Given the description of an element on the screen output the (x, y) to click on. 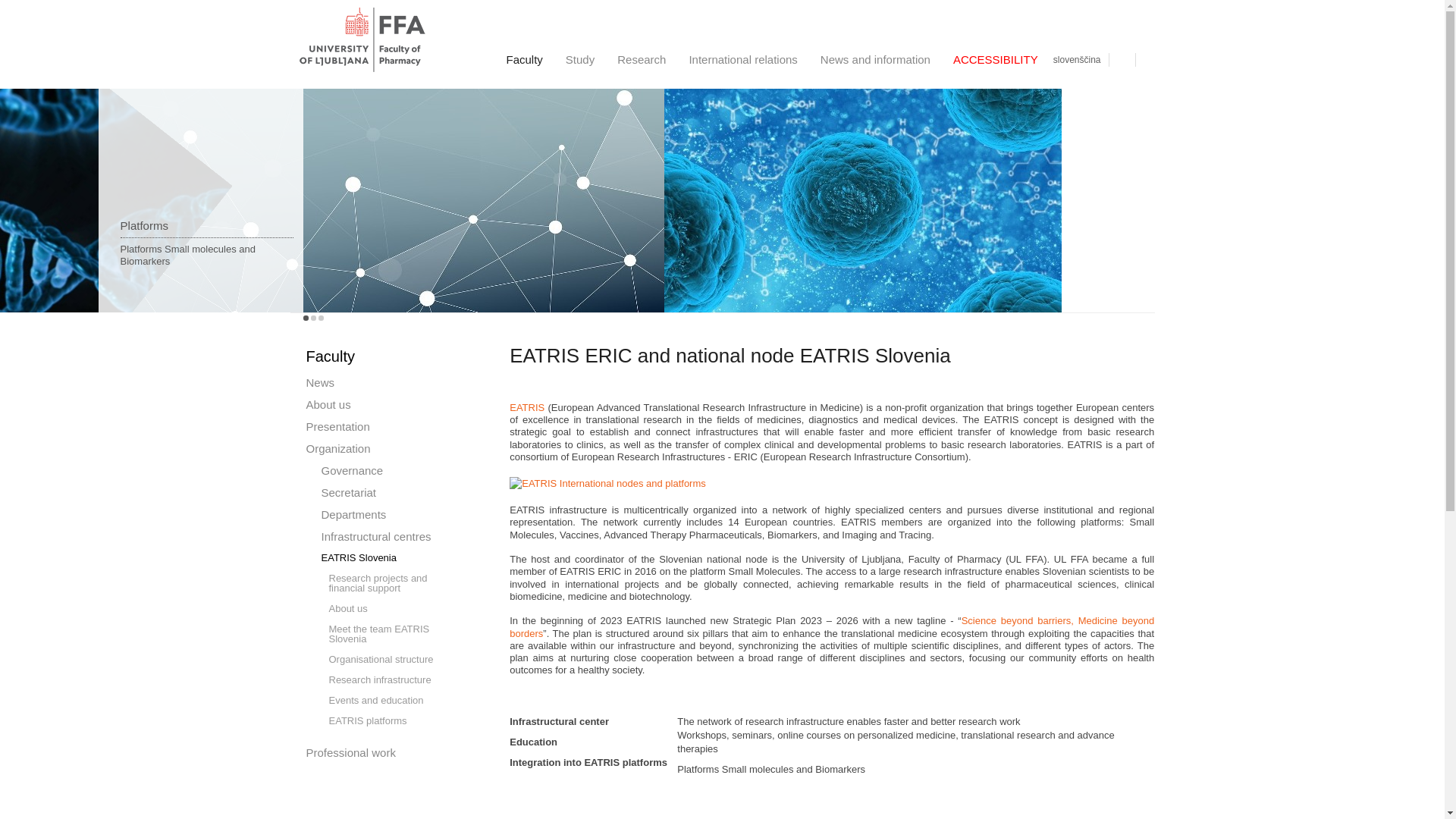
Faculty (524, 58)
International relations (742, 58)
Research (641, 58)
News and information (875, 58)
EATRIS International nodes and platforms (607, 483)
Study (579, 58)
